Given the description of an element on the screen output the (x, y) to click on. 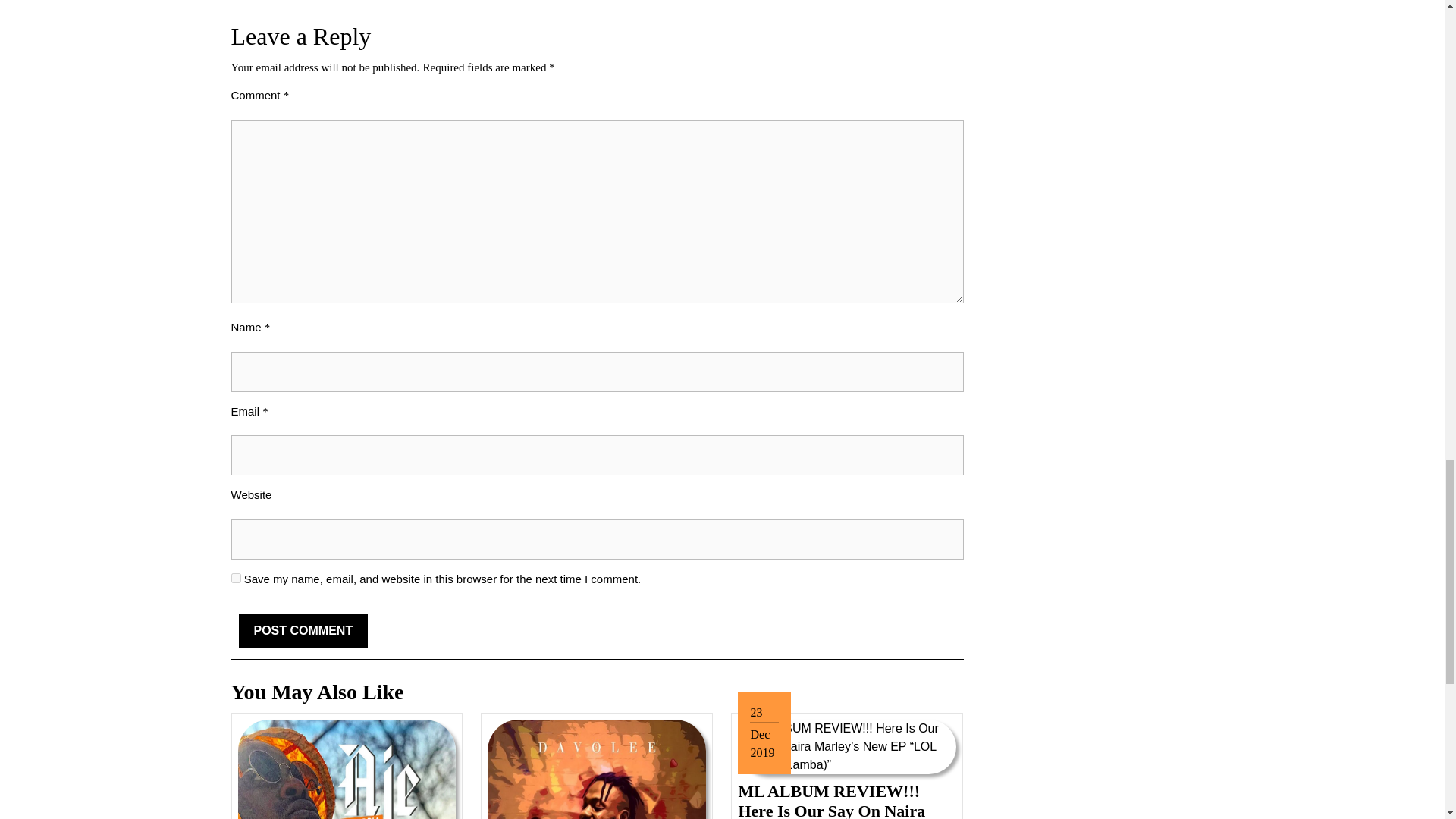
yes (235, 578)
Post Comment (303, 630)
Post Comment (303, 630)
